Given the description of an element on the screen output the (x, y) to click on. 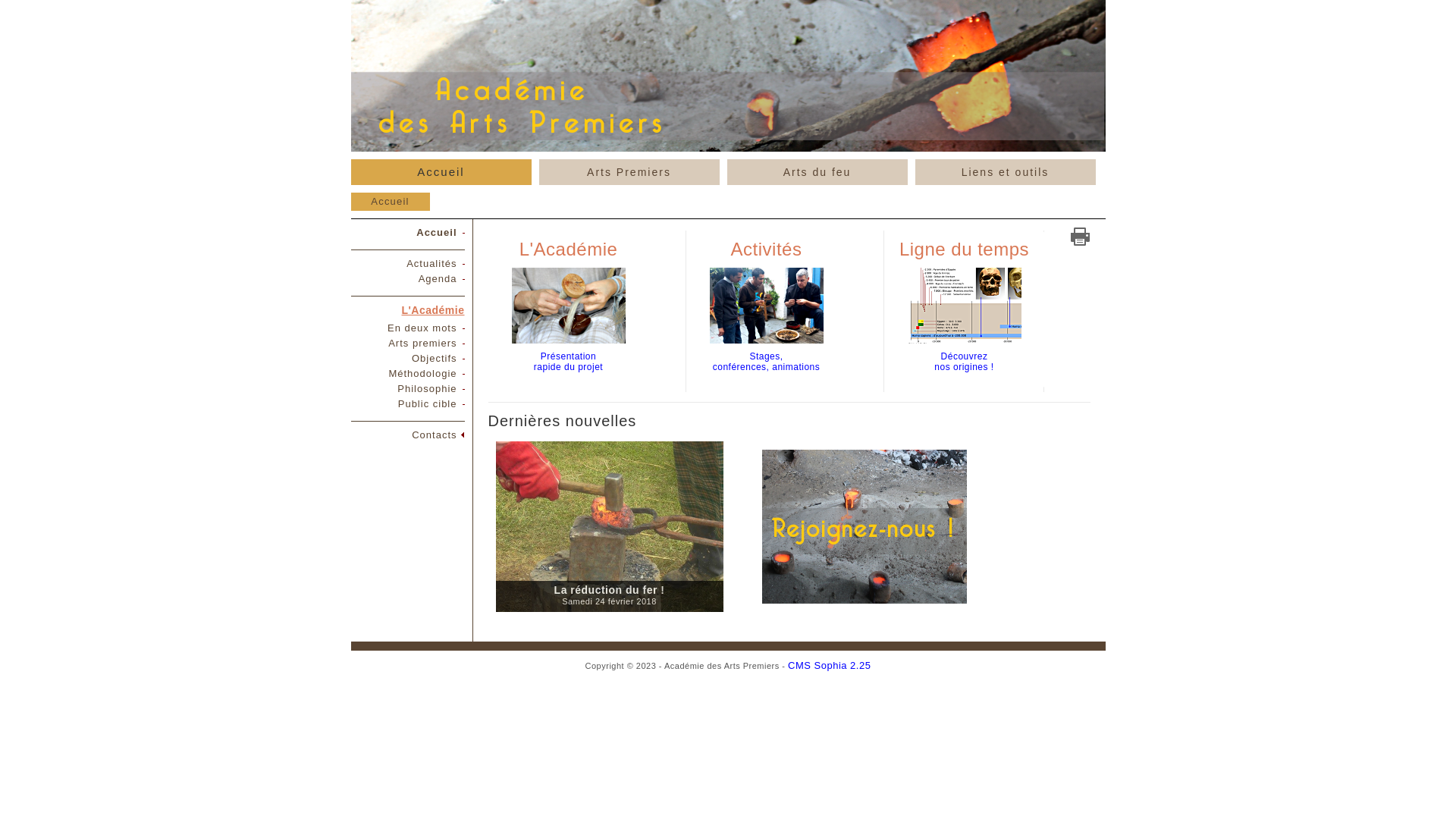
Liens et outils Element type: text (1005, 172)
Objectifs Element type: text (434, 358)
Contacts Element type: text (433, 434)
En deux mots Element type: text (422, 327)
Philosophie Element type: text (426, 388)
Arts Premiers Element type: text (628, 172)
Agenda Element type: text (437, 278)
Arts du feu Element type: text (817, 172)
Public cible Element type: text (427, 403)
Arts premiers Element type: text (422, 342)
CMS Sophia 2.25 Element type: text (828, 665)
